Given the description of an element on the screen output the (x, y) to click on. 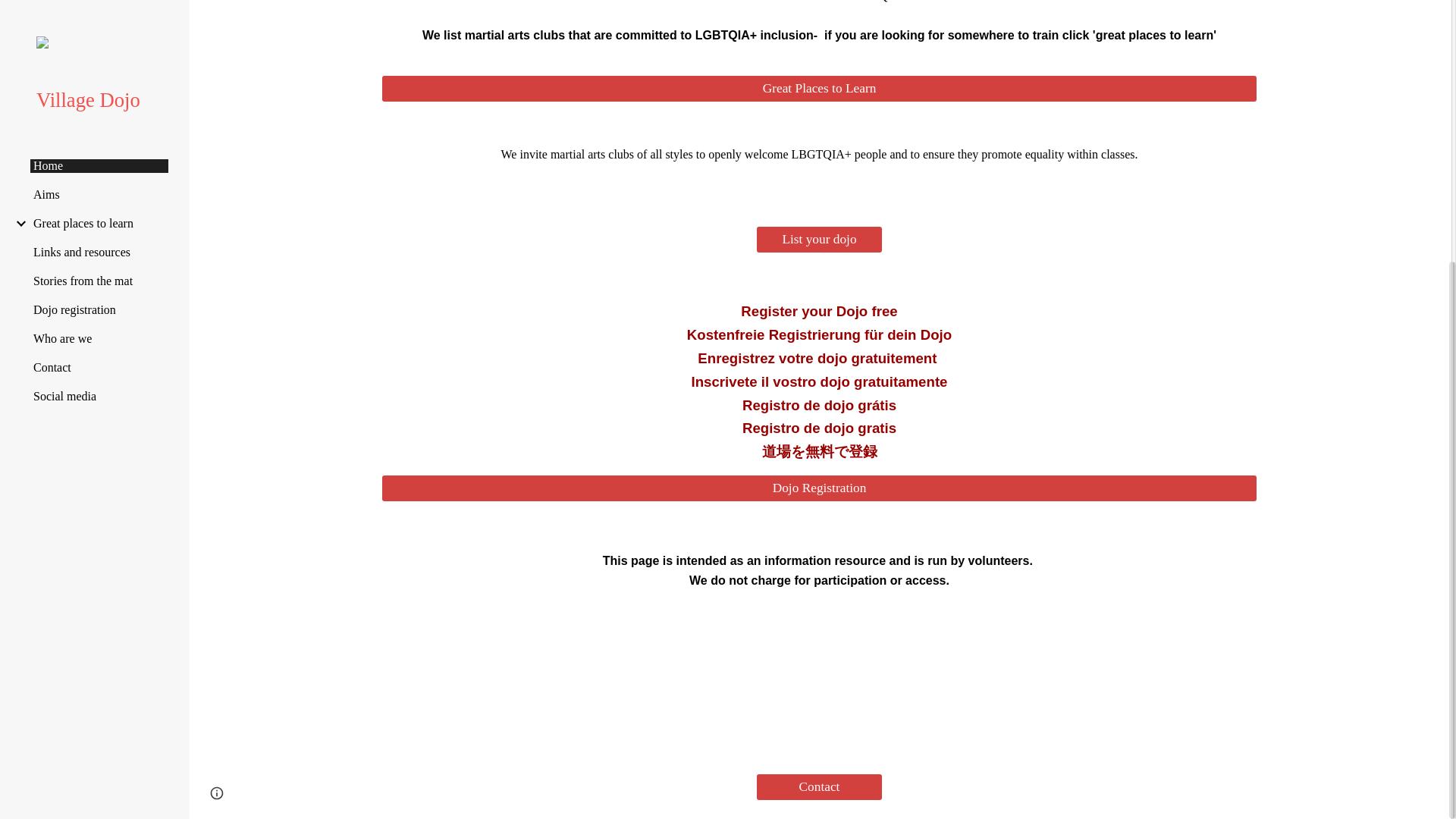
Dojo Registration (818, 488)
Contact (819, 786)
List your dojo (819, 239)
Social media (99, 11)
Great Places to Learn (818, 87)
